Given the description of an element on the screen output the (x, y) to click on. 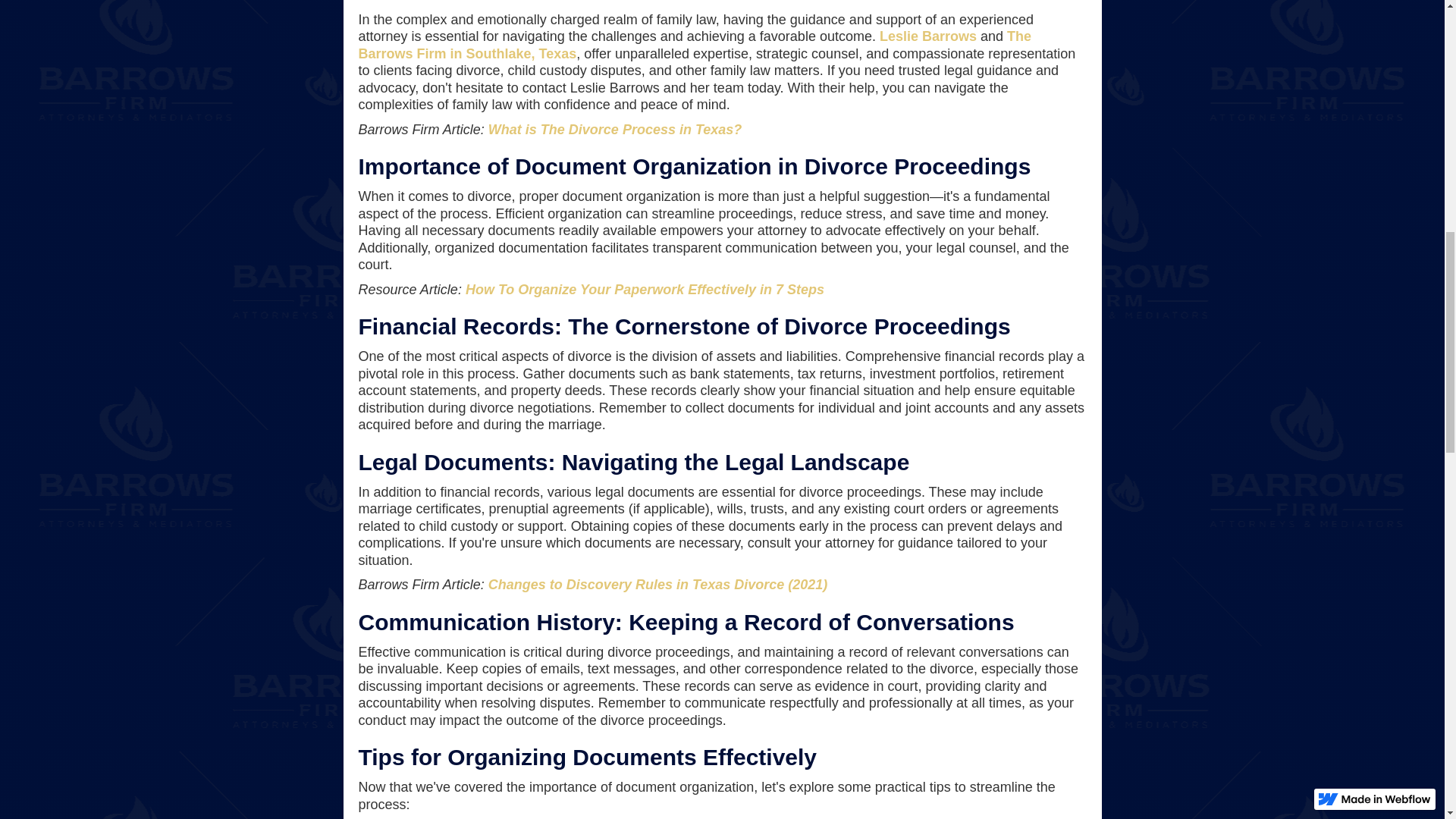
Leslie Barrows (927, 36)
